Given the description of an element on the screen output the (x, y) to click on. 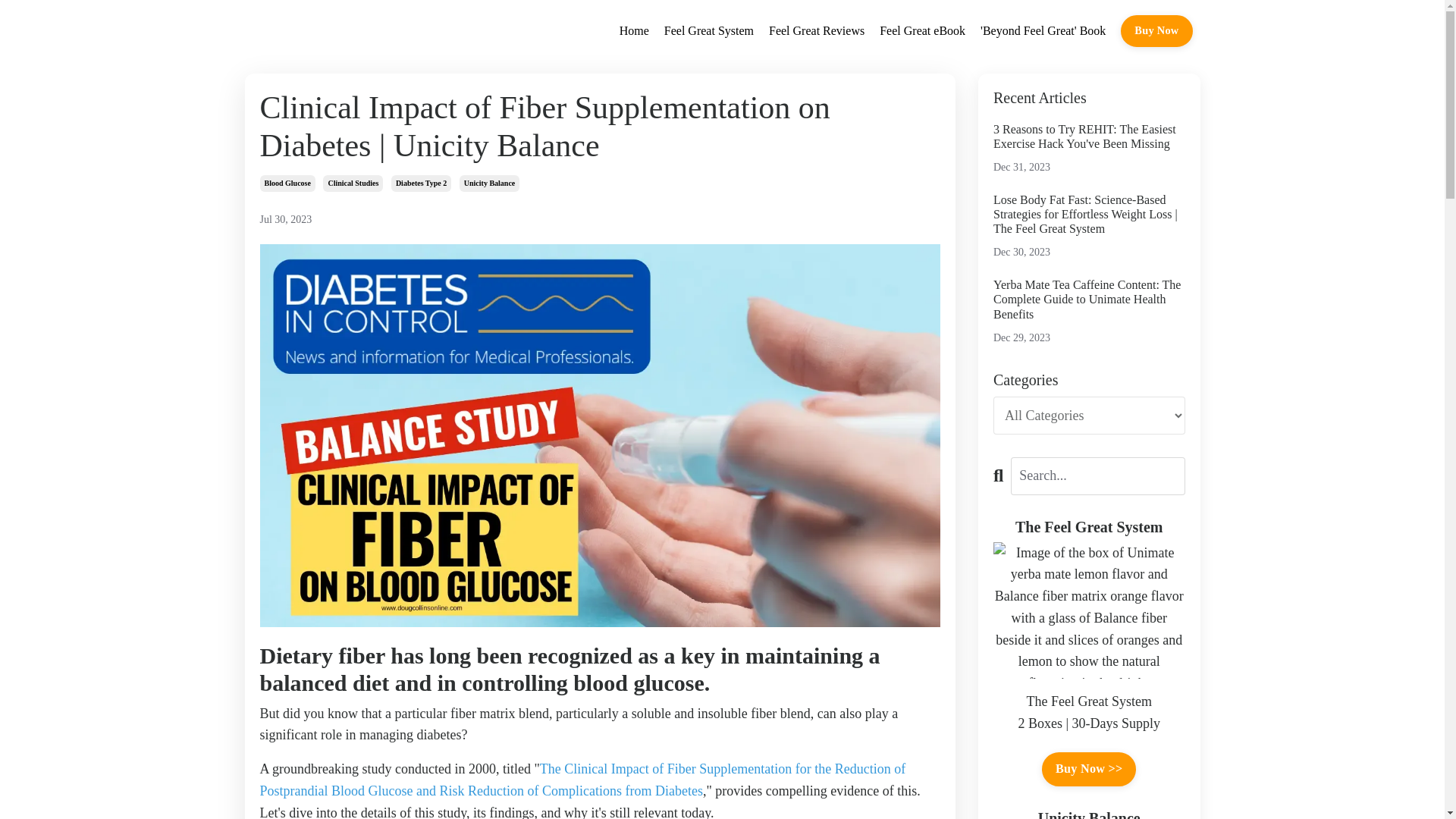
Blood Glucose (286, 183)
Home (634, 30)
Feel Great System (708, 30)
Clinical Studies (352, 183)
Feel Great Reviews (816, 30)
Unicity Balance (489, 183)
Buy Now (1156, 30)
